Given the description of an element on the screen output the (x, y) to click on. 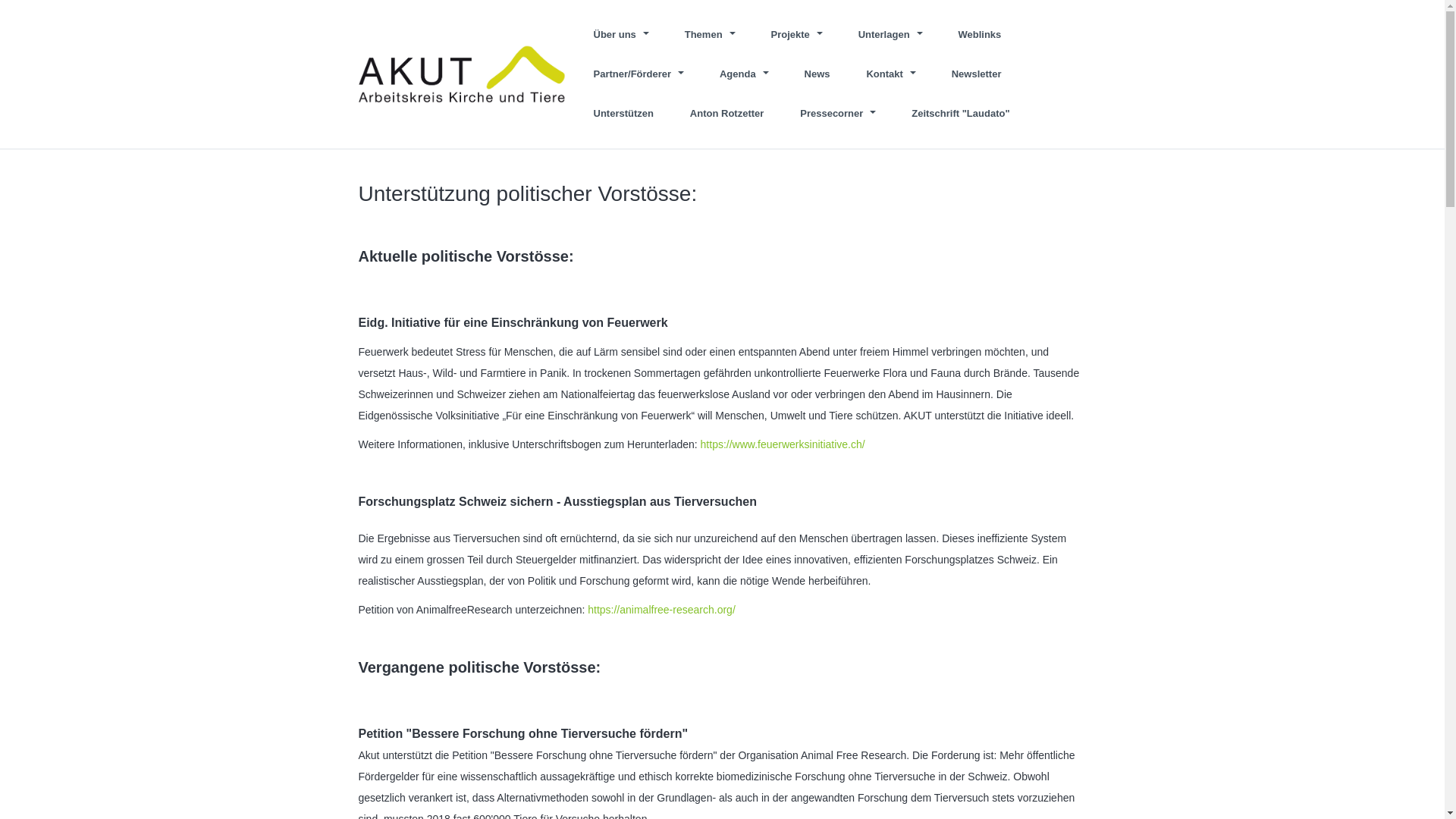
https://www.feuerwerksinitiative.ch/ Element type: text (782, 444)
News Element type: text (817, 74)
https://animalfree-research.org/ Element type: text (661, 609)
Anton Rotzetter Element type: text (727, 113)
Zeitschrift "Laudato" Element type: text (951, 113)
Newsletter Element type: text (976, 74)
Weblinks Element type: text (979, 34)
